Given the description of an element on the screen output the (x, y) to click on. 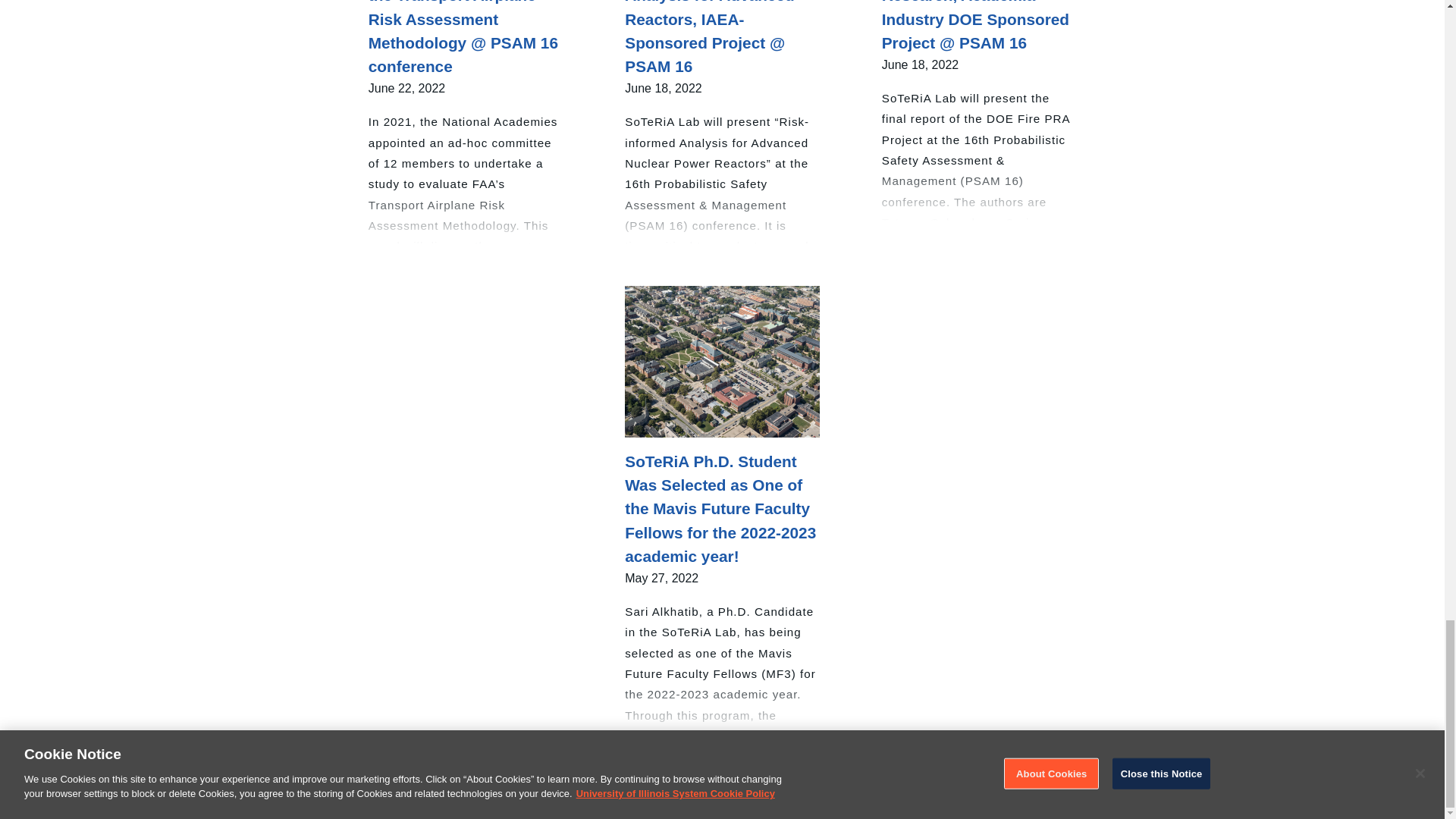
CookieSettings (40, 807)
CookieSettings (125, 807)
